Given the description of an element on the screen output the (x, y) to click on. 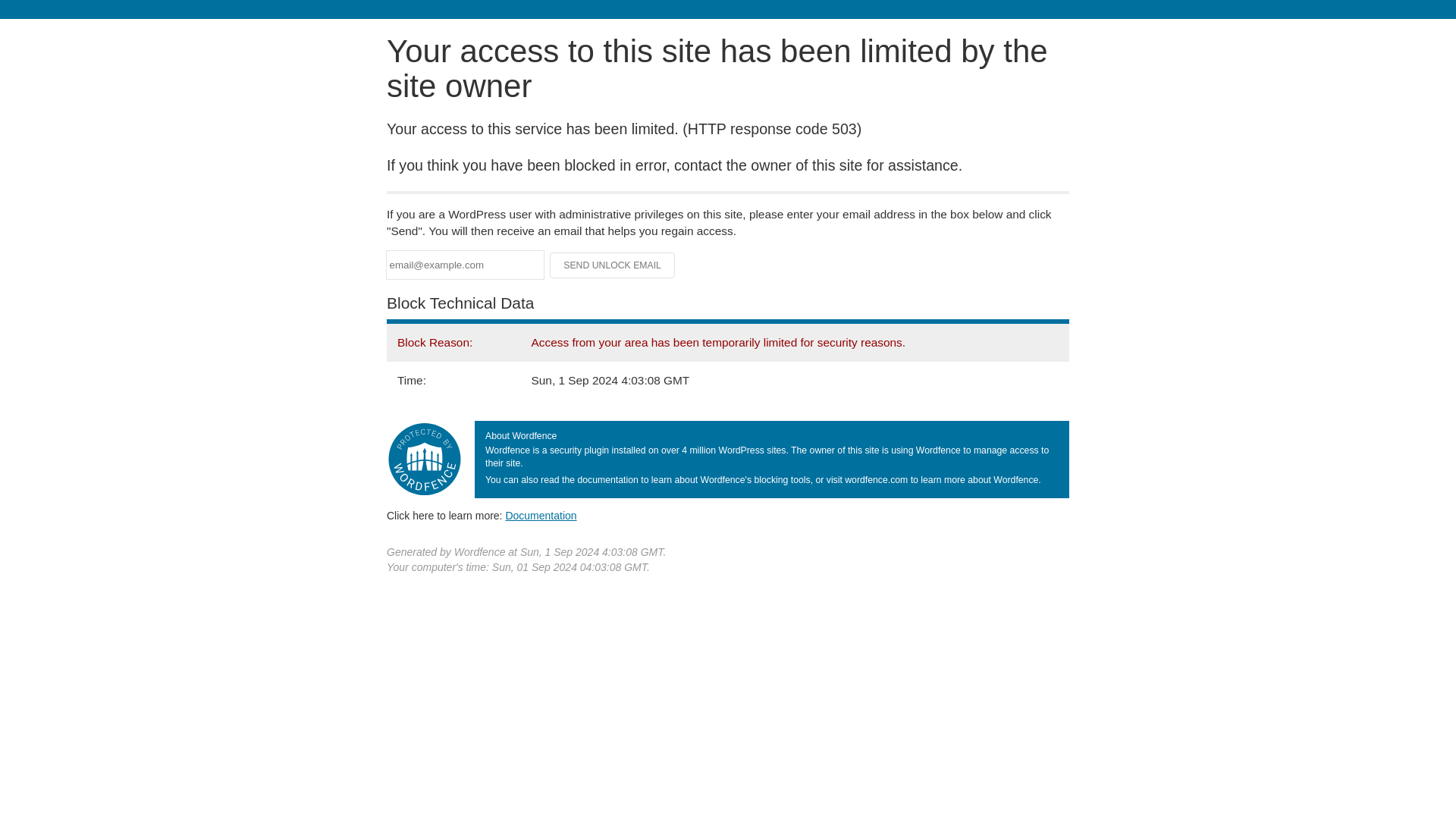
Documentation (540, 515)
Send Unlock Email (612, 265)
Send Unlock Email (612, 265)
